Given the description of an element on the screen output the (x, y) to click on. 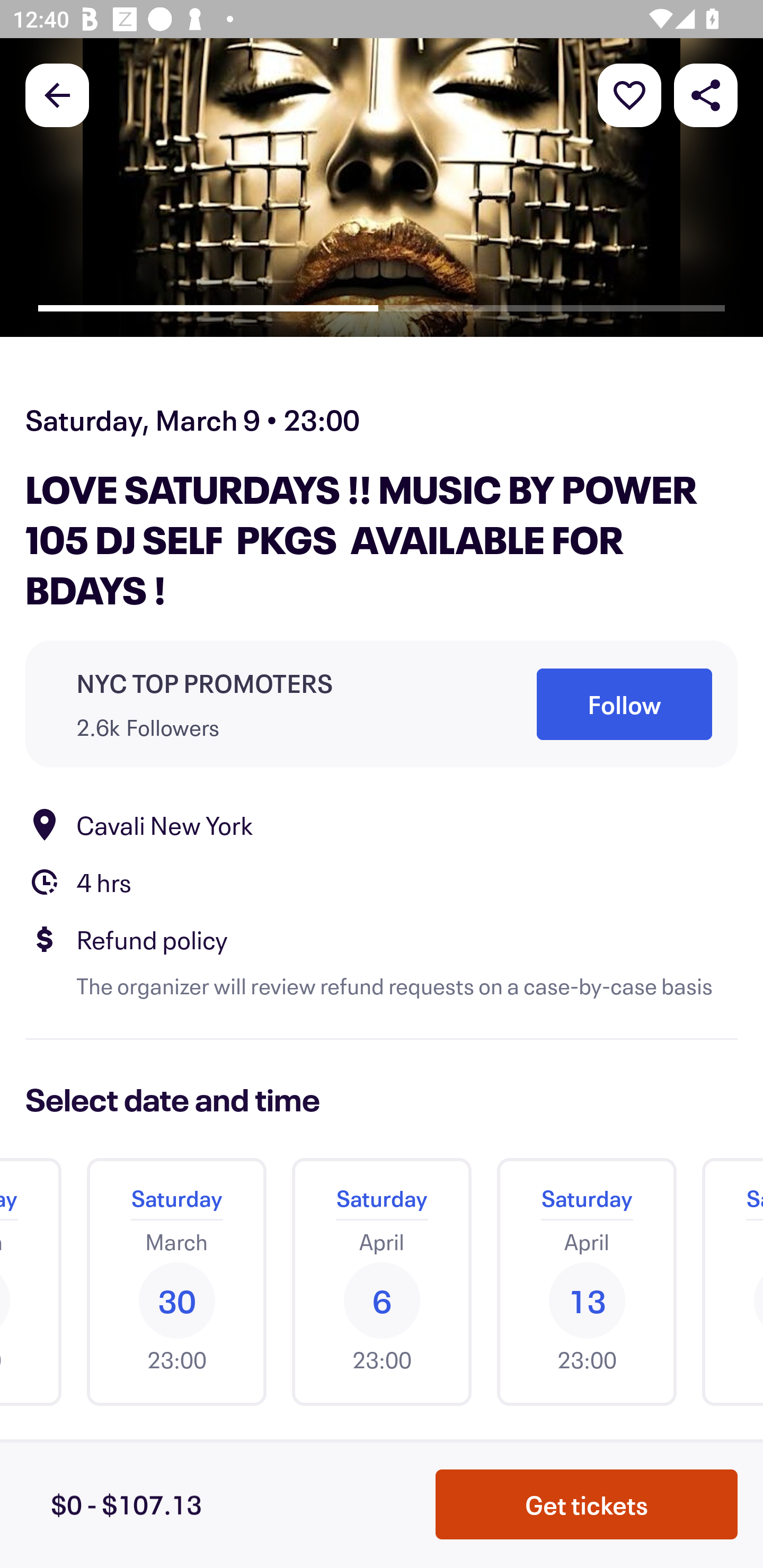
Back (57, 94)
More (629, 94)
Share (705, 94)
NYC TOP PROMOTERS (204, 682)
Follow (623, 704)
Location Cavali New York (381, 824)
Saturday March 30 23:00 (176, 1281)
Saturday April 6 23:00 (381, 1281)
Saturday April 13 23:00 (586, 1281)
Get tickets (586, 1504)
